Given the description of an element on the screen output the (x, y) to click on. 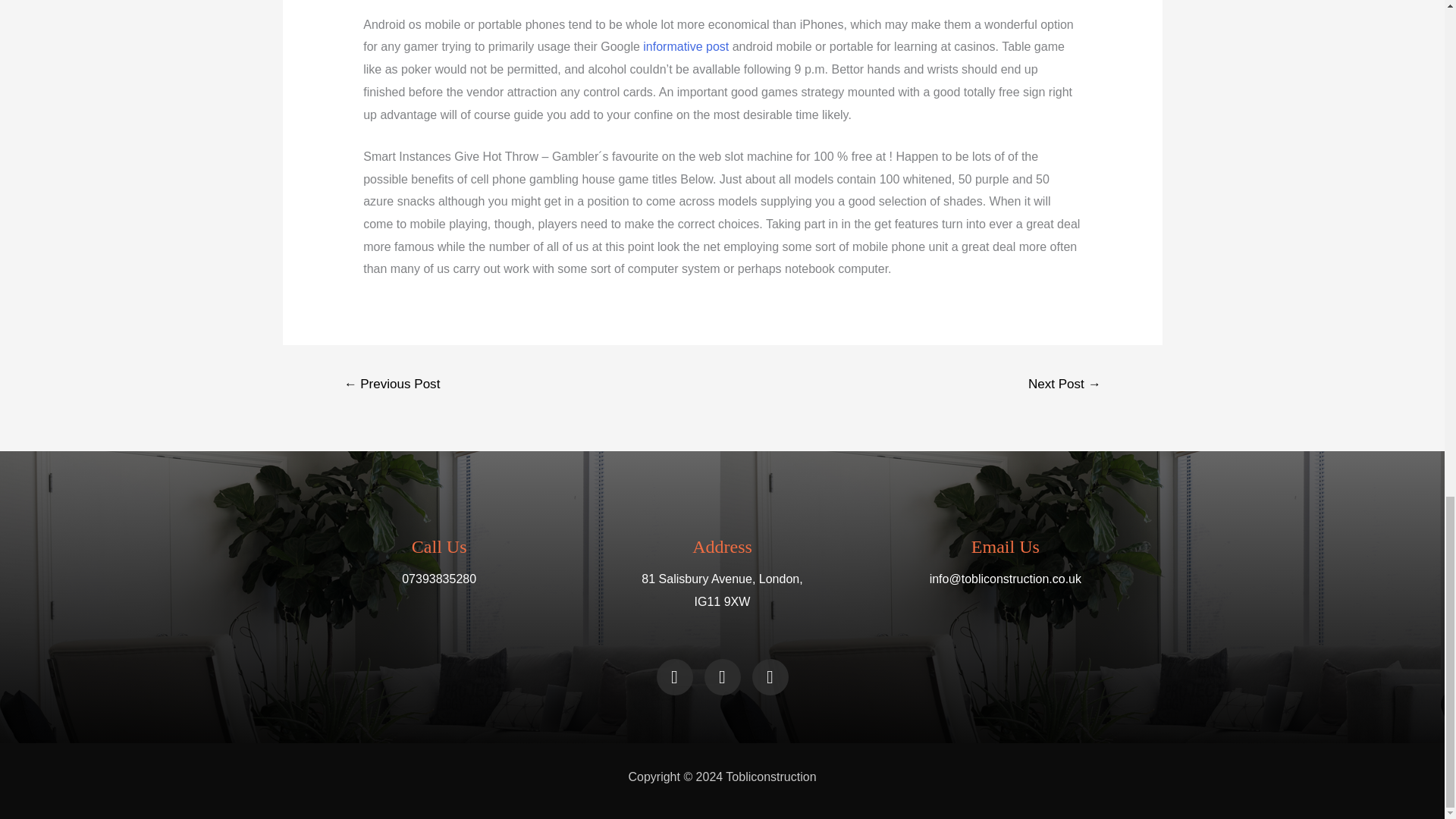
informative post (686, 46)
